Given the description of an element on the screen output the (x, y) to click on. 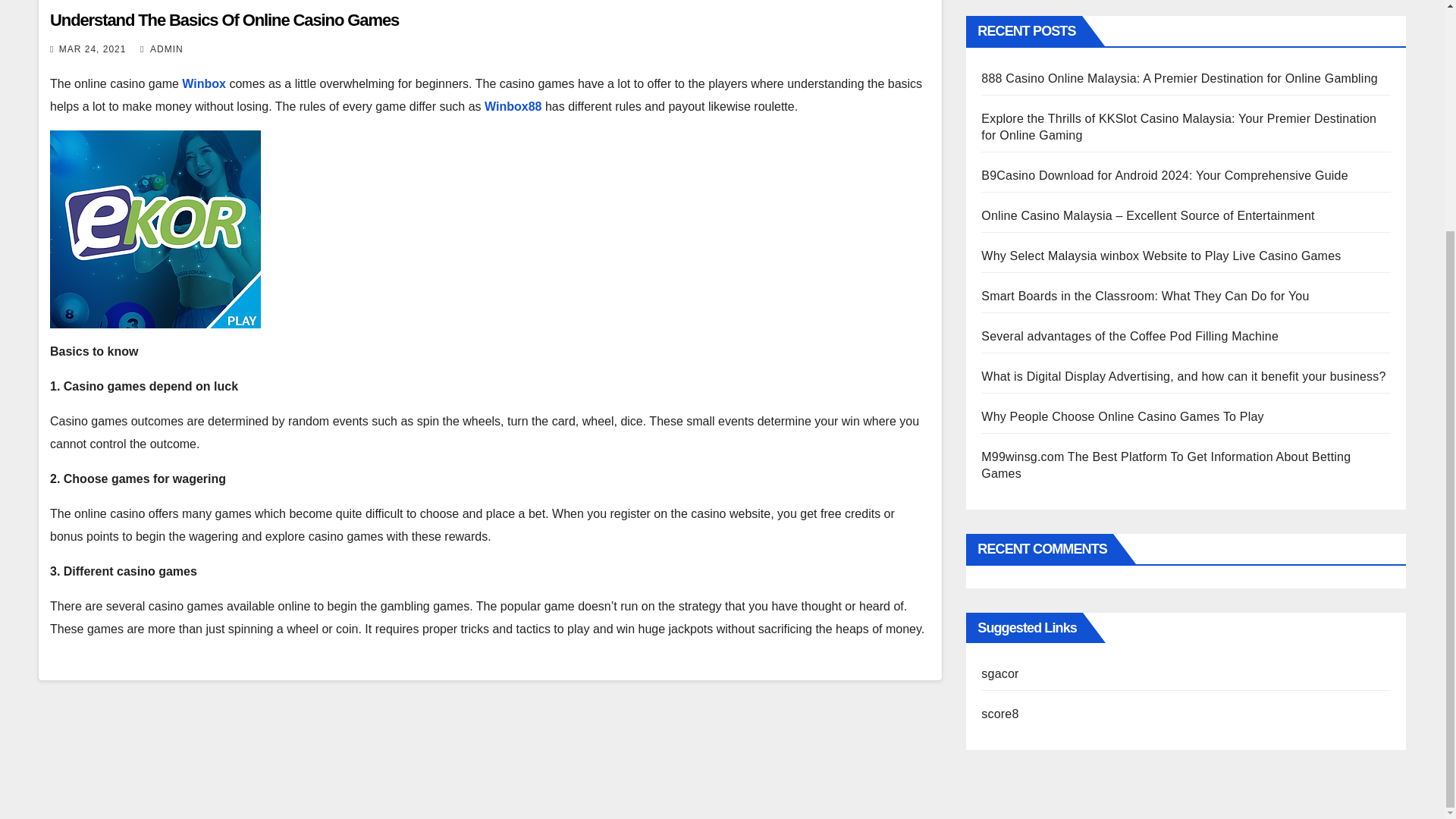
Why Select Malaysia winbox Website to Play Live Casino Games (1160, 255)
Several advantages of the Coffee Pod Filling Machine  (1131, 336)
Smart Boards in the Classroom: What They Can Do for You (1144, 295)
Winbox (203, 83)
B9Casino Download for Android 2024: Your Comprehensive Guide (1164, 174)
Why People Choose Online Casino Games To Play (1122, 416)
MAR 24, 2021 (92, 49)
ADMIN (161, 49)
